Given the description of an element on the screen output the (x, y) to click on. 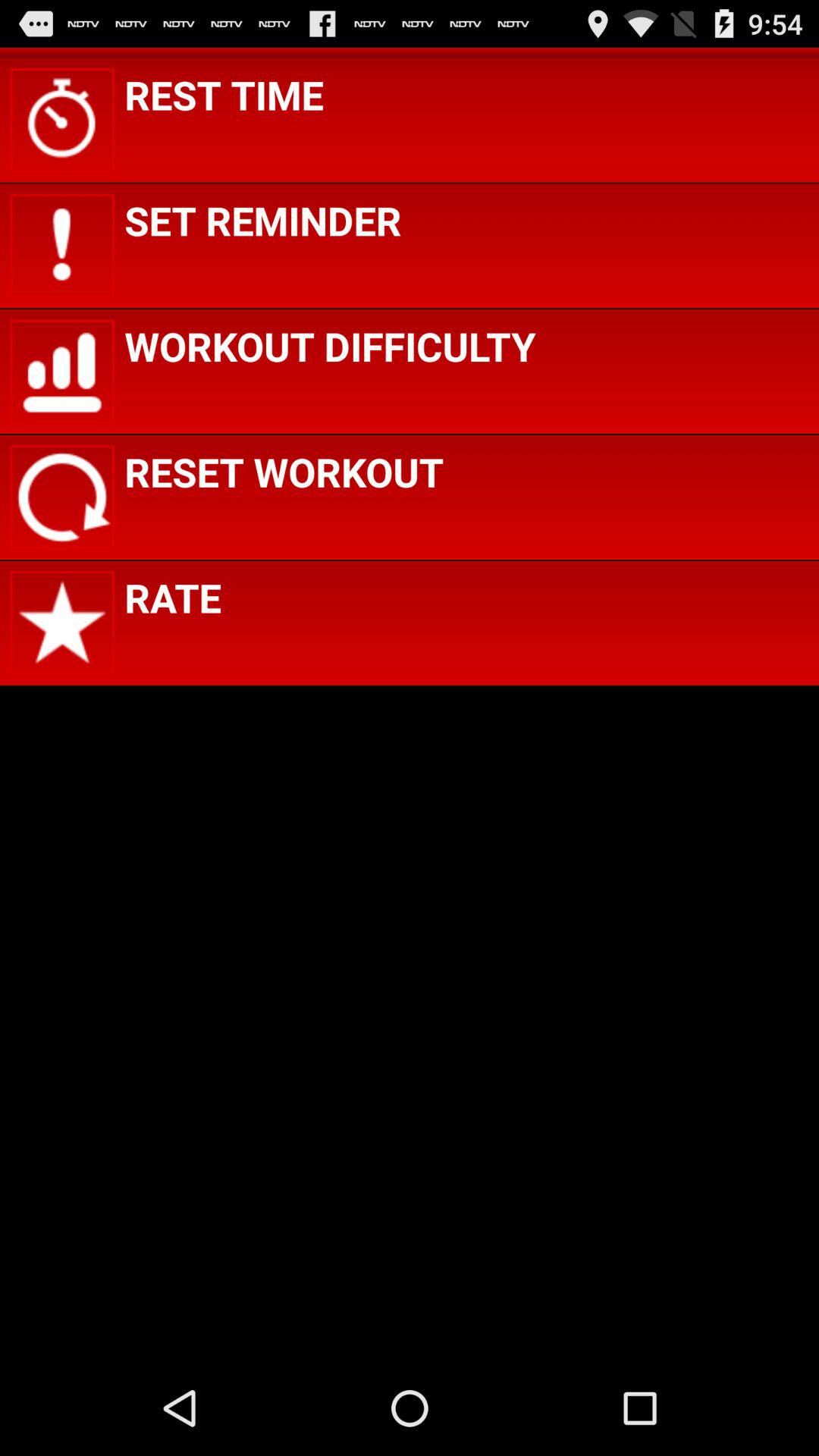
tap the icon above set reminder icon (223, 94)
